Given the description of an element on the screen output the (x, y) to click on. 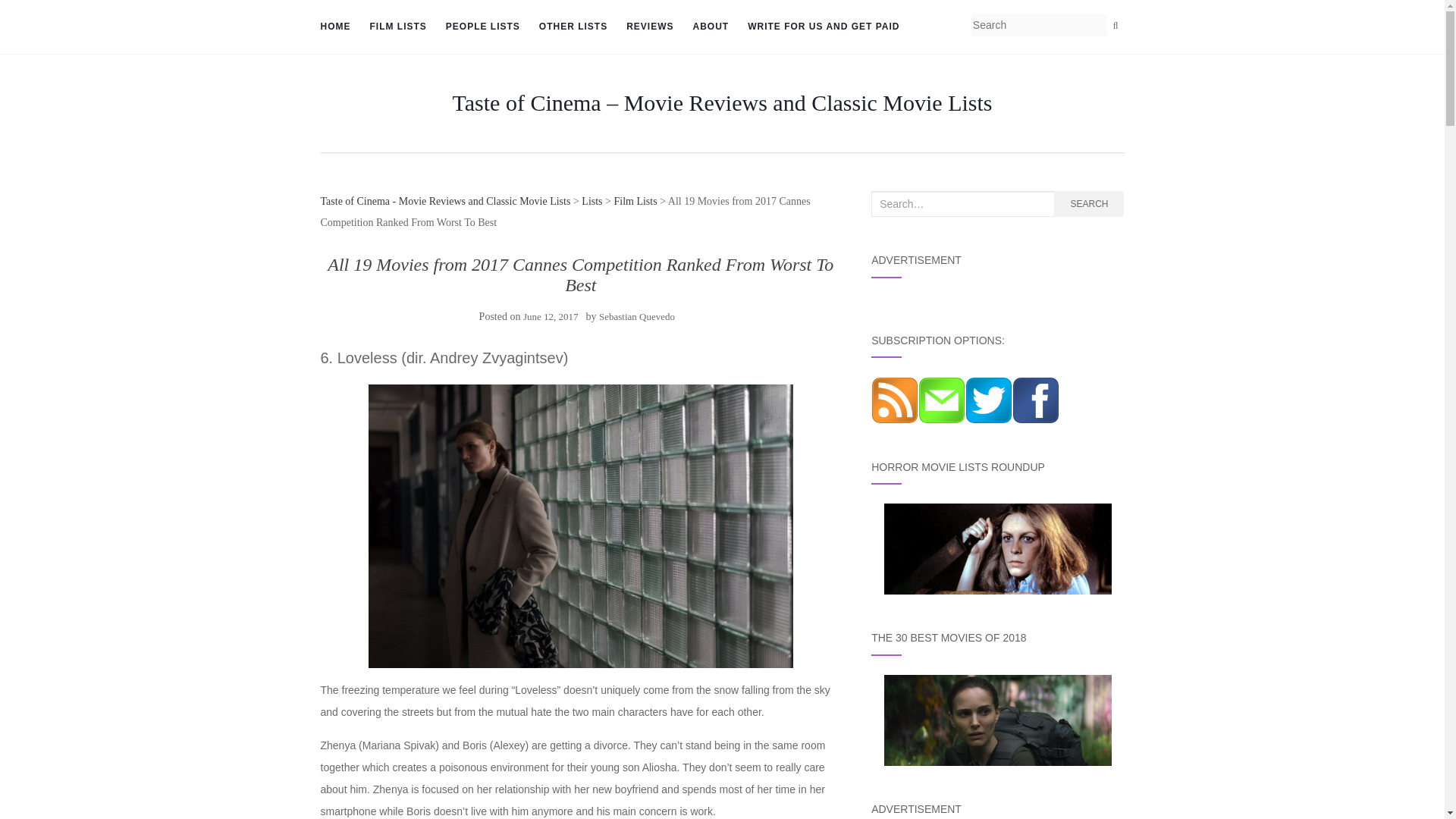
SEARCH (1089, 203)
WRITE FOR US AND GET PAID (823, 27)
Subscribe via Twitter (988, 398)
Go to the Film Lists category archives. (634, 201)
Film Lists (634, 201)
Sebastian Quevedo (636, 316)
Subscribe via Facebook (1035, 398)
Other Lists (572, 27)
Go to the Lists category archives. (591, 201)
Write For Us and Get Paid (823, 27)
PEOPLE LISTS (482, 27)
Subscribe via RSS (894, 398)
Subscribe via Email (941, 398)
Film Lists (397, 27)
